Given the description of an element on the screen output the (x, y) to click on. 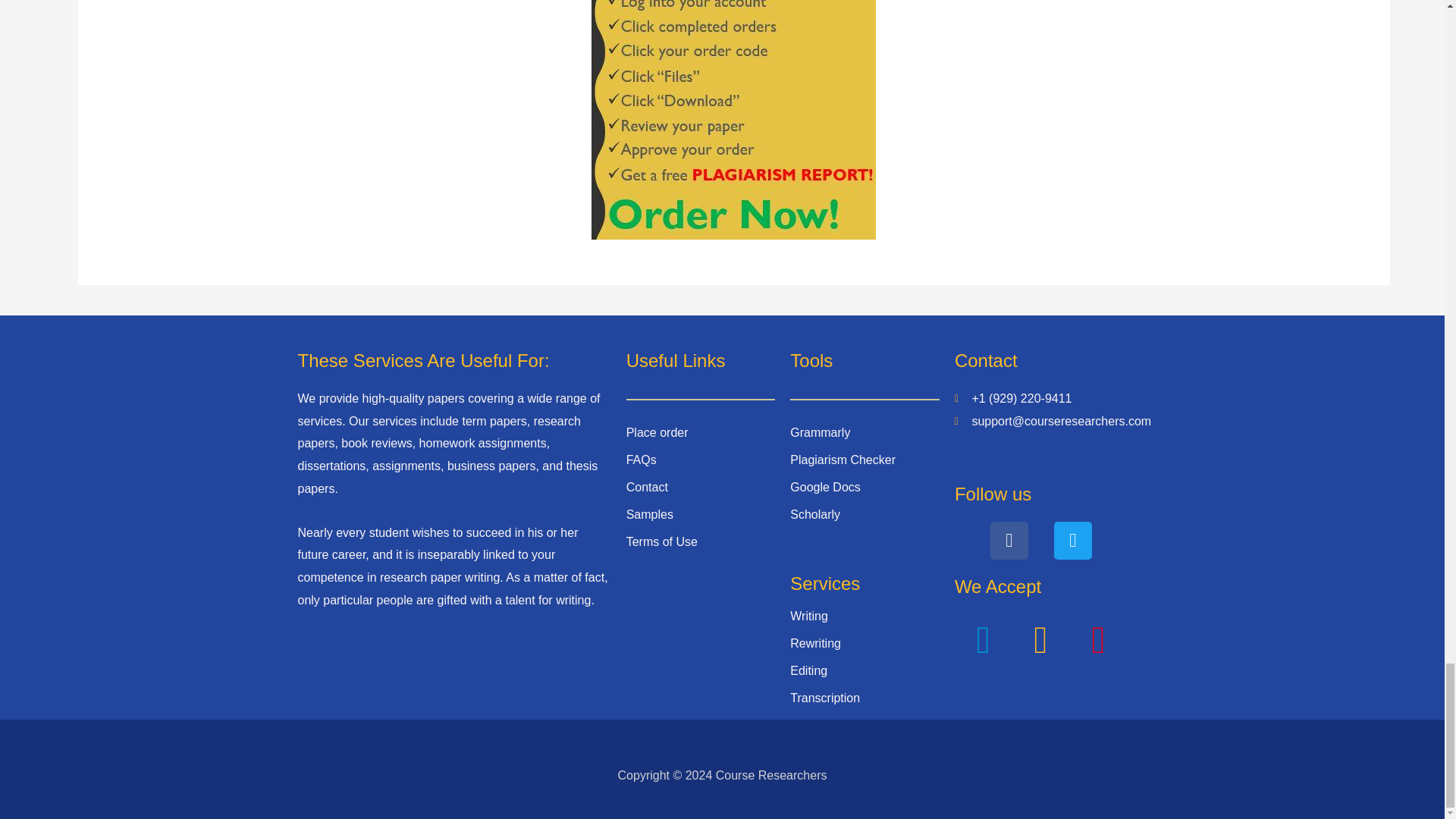
Transcription (825, 697)
Rewriting (815, 643)
FAQs (641, 459)
Samples (649, 513)
Place order (657, 431)
Twitter (1073, 540)
Contact (647, 486)
Facebook (1008, 540)
Editing (808, 670)
Writing (809, 615)
Terms of Use (661, 541)
